Given the description of an element on the screen output the (x, y) to click on. 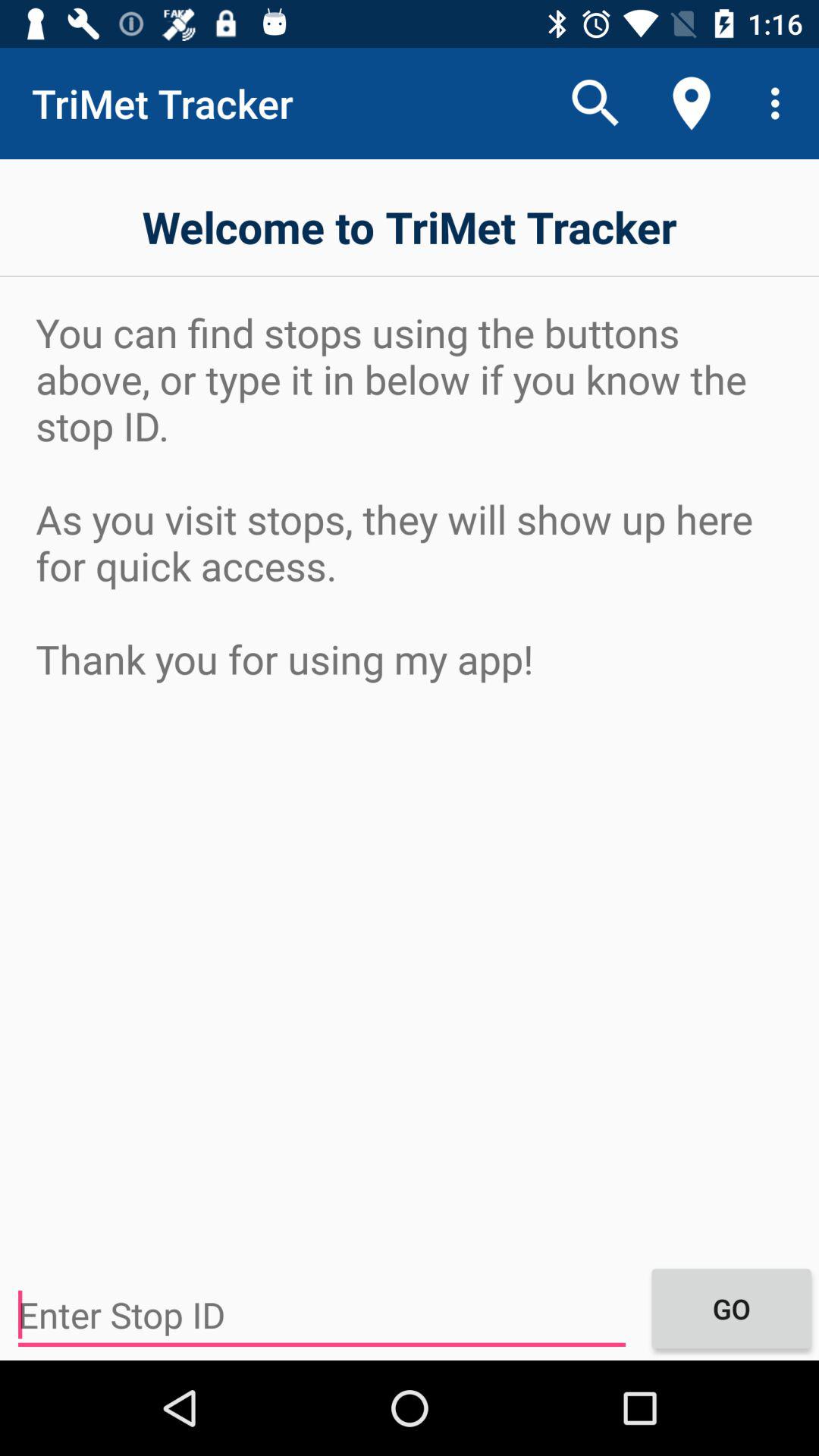
swipe until go item (731, 1308)
